Given the description of an element on the screen output the (x, y) to click on. 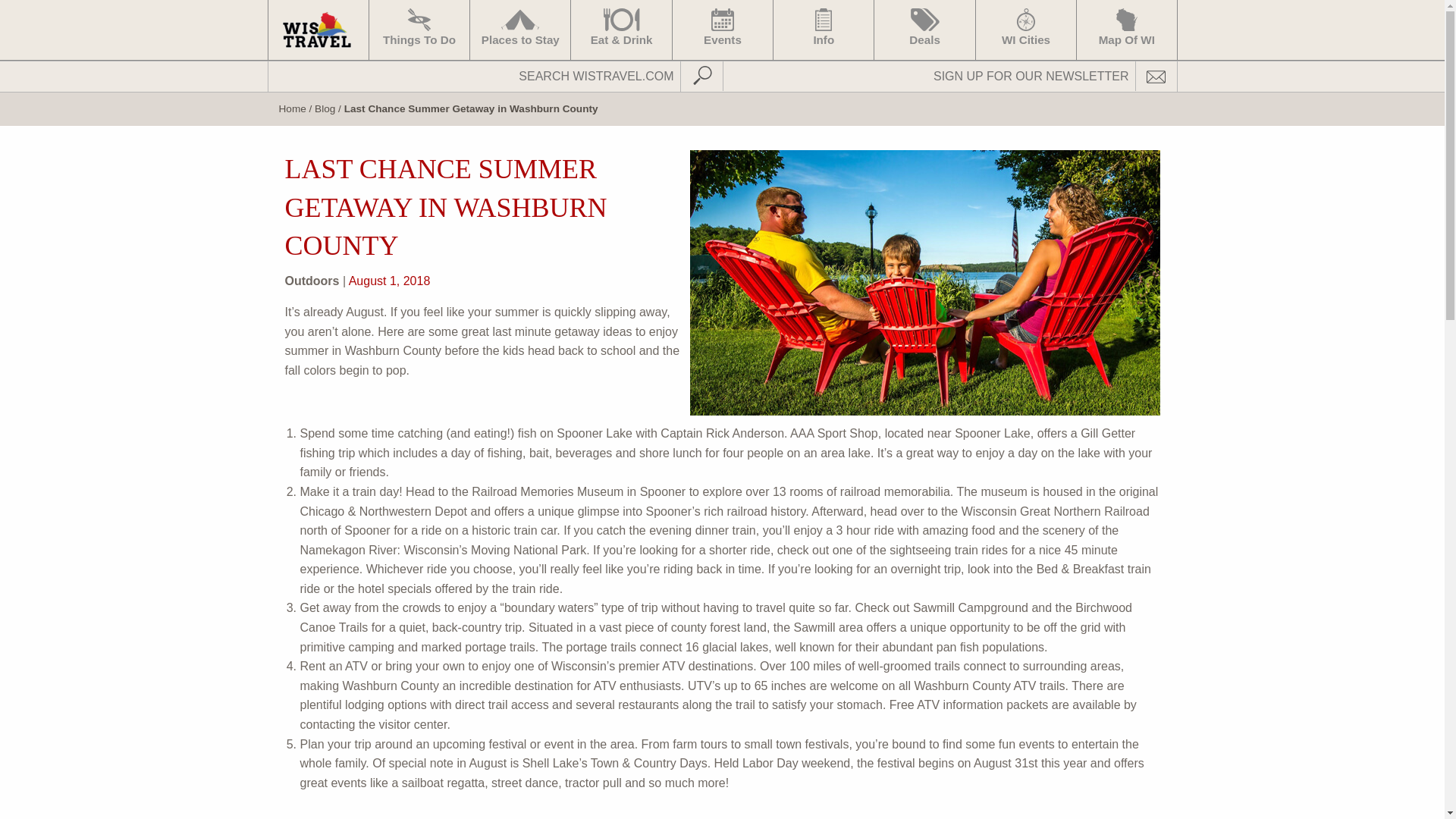
Places to Stay (519, 29)
Events (722, 29)
WI Cities (1025, 29)
Things To Do (418, 29)
Navigate Home (317, 29)
Deals (923, 29)
Map Of WI (1125, 29)
Info (823, 29)
